Given the description of an element on the screen output the (x, y) to click on. 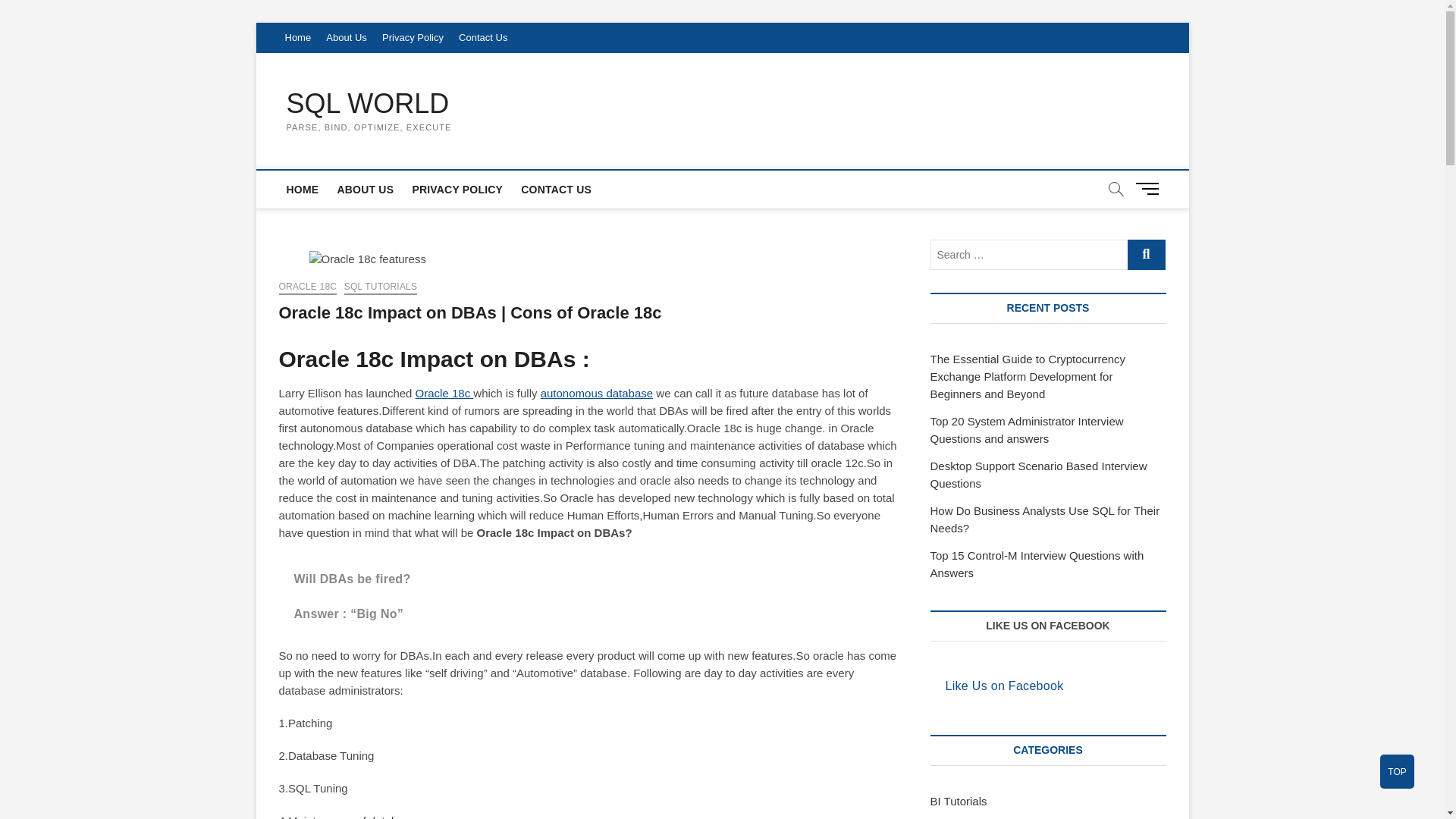
SQL TUTORIALS (379, 287)
autonomous database (596, 392)
CONTACT US (555, 189)
Menu Button (1150, 187)
Home (298, 37)
Top 15 Control-M Interview Questions with Answers (1036, 563)
PRIVACY POLICY (457, 189)
ORACLE 18C (308, 287)
Contact Us (482, 37)
HOME (302, 189)
About Us (346, 37)
Privacy Policy (412, 37)
How Do Business Analysts Use SQL for Their Needs? (1044, 519)
SQL WORLD (368, 103)
